Given the description of an element on the screen output the (x, y) to click on. 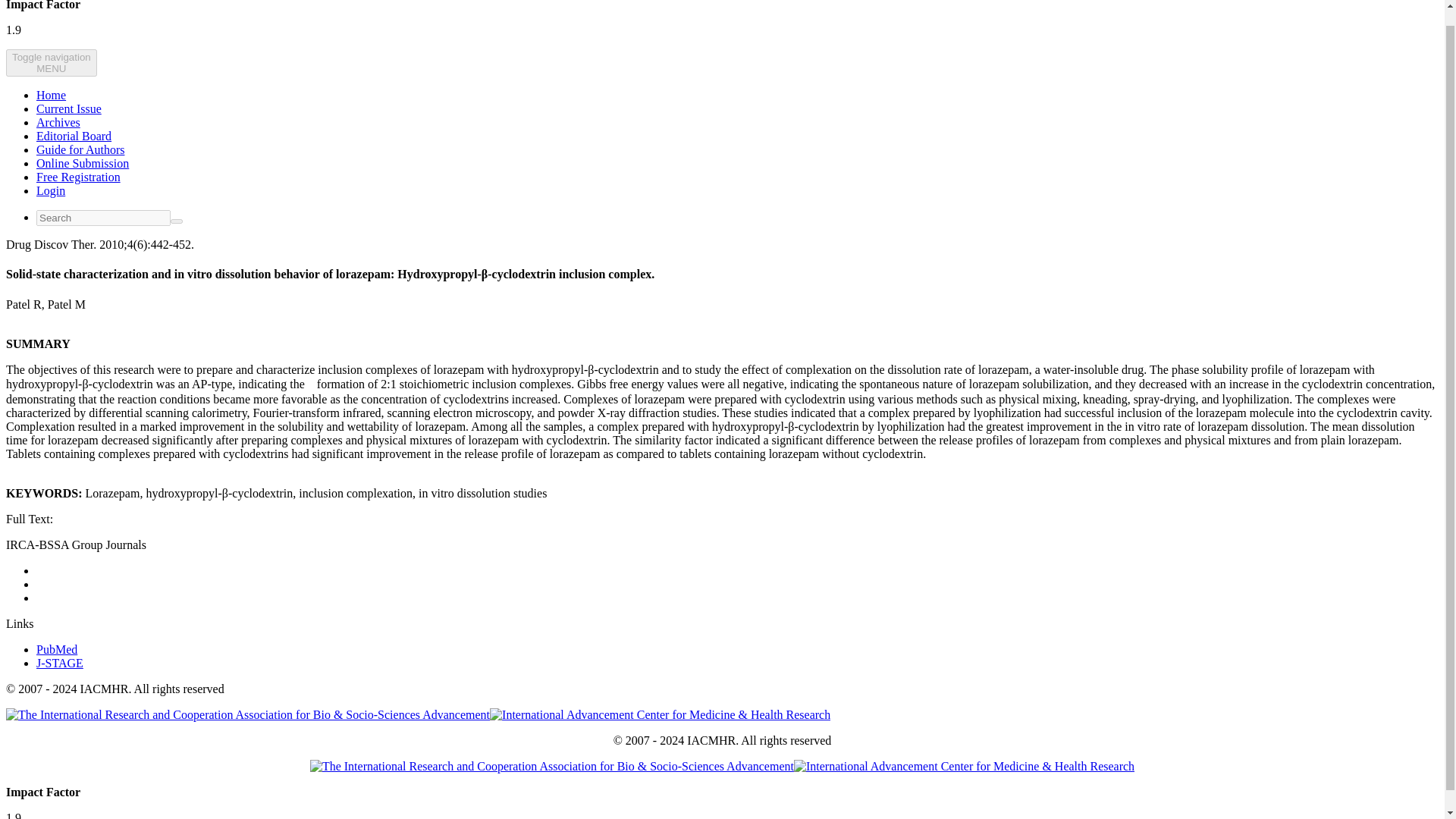
Archives (58, 122)
PubMed (56, 649)
Editorial Board (74, 135)
Free Registration (78, 176)
Online Submission (51, 62)
J-STAGE (82, 163)
Login (59, 662)
Guide for Authors (50, 190)
Current Issue (79, 149)
Home (68, 108)
